Given the description of an element on the screen output the (x, y) to click on. 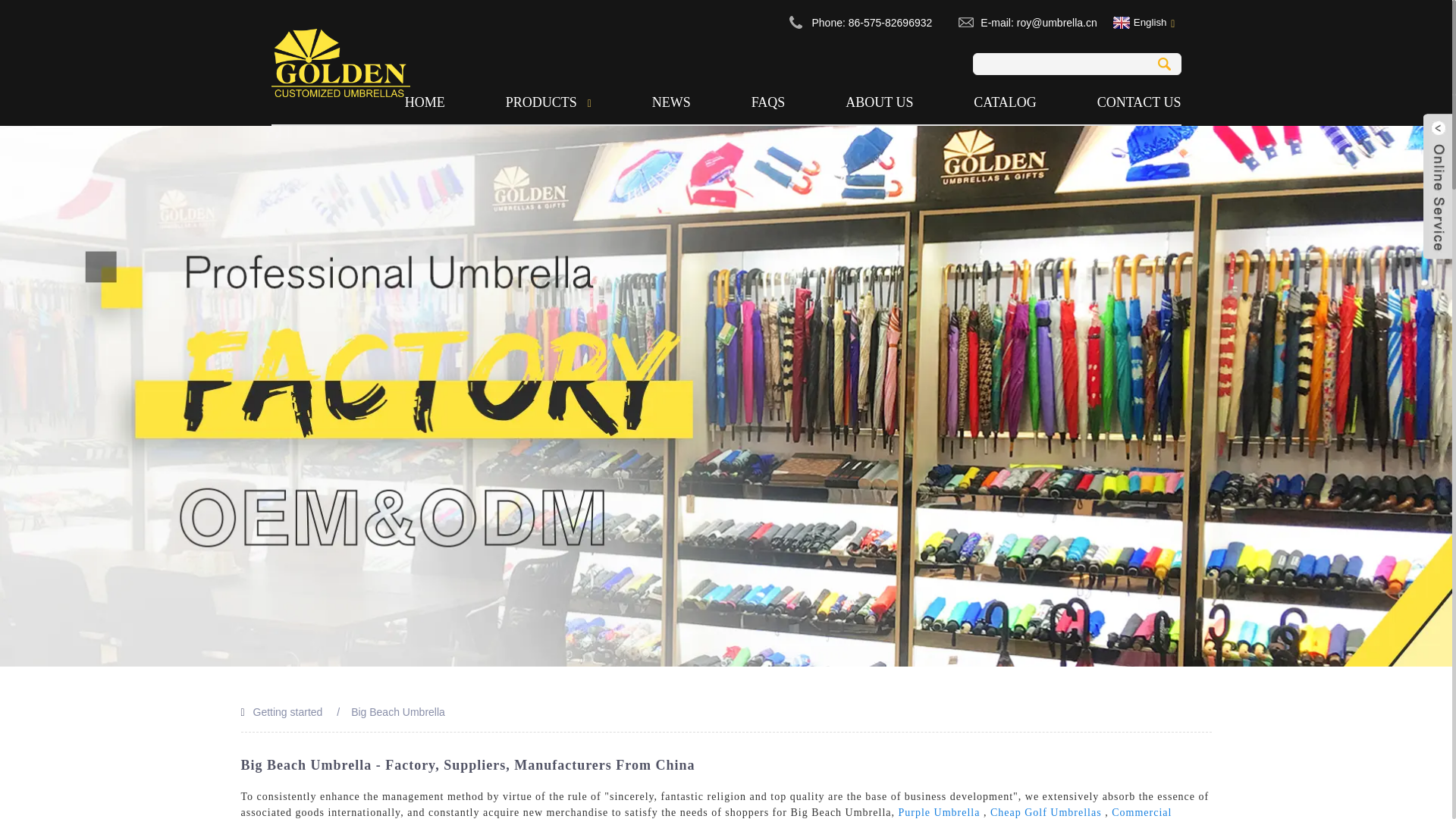
NEWS (671, 102)
Purple Umbrella (938, 812)
Commercial Parasol (706, 812)
Commercial Parasol (706, 812)
PRODUCTS (548, 102)
Phone: 86-575-82696932 (870, 22)
CONTACT US (1124, 102)
Big Beach Umbrella (397, 711)
Cheap Golf Umbrellas (1046, 812)
FAQS (767, 102)
CATALOG (1004, 102)
Getting started (288, 711)
Purple Umbrella (938, 812)
English (1138, 22)
ABOUT US (879, 102)
